Given the description of an element on the screen output the (x, y) to click on. 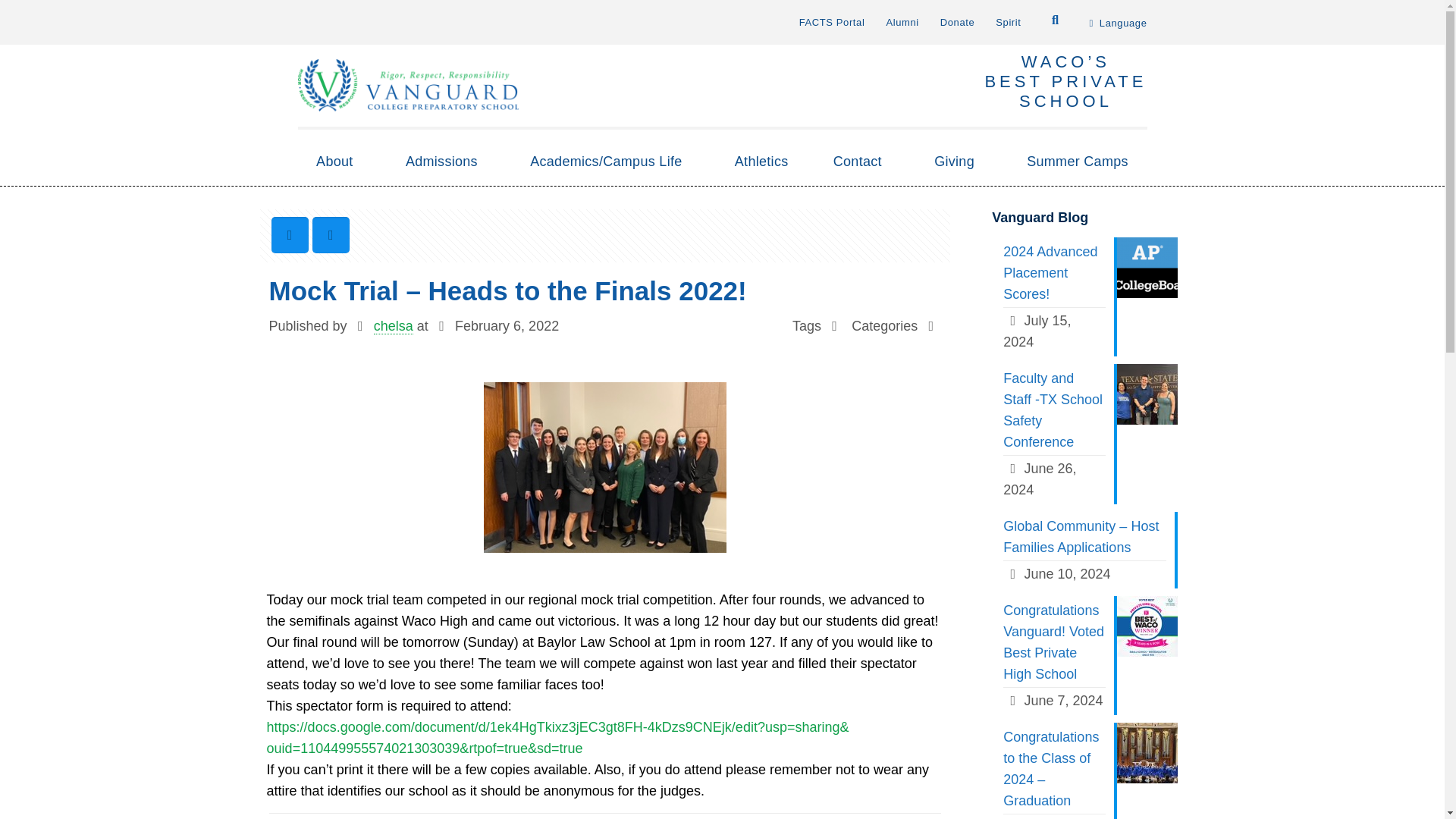
Language (1118, 26)
Donate (957, 21)
FACTS Portal (831, 21)
Alumni (901, 21)
About (337, 161)
Admissions (445, 161)
